Given the description of an element on the screen output the (x, y) to click on. 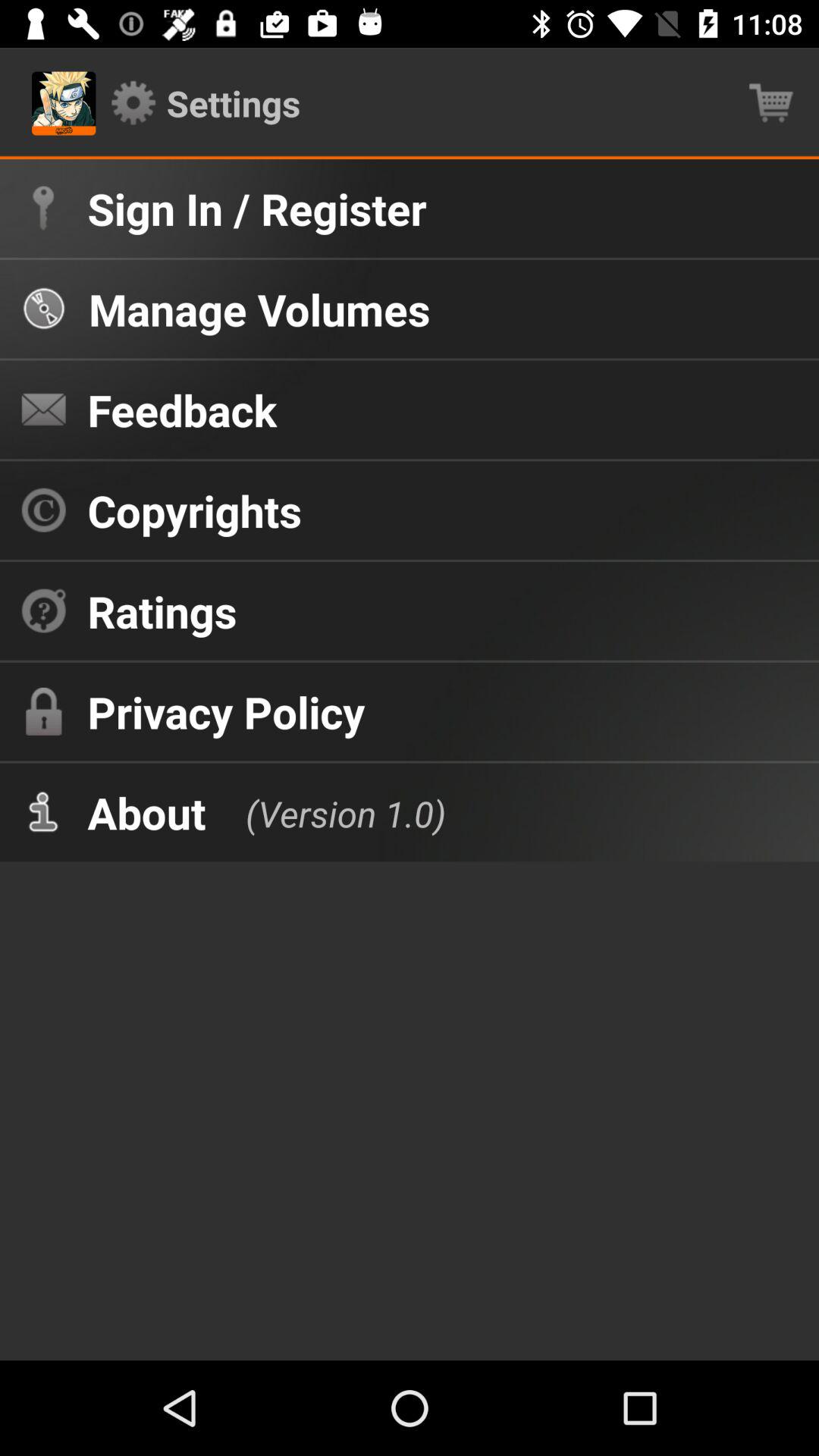
turn off item below privacy policy item (330, 812)
